Given the description of an element on the screen output the (x, y) to click on. 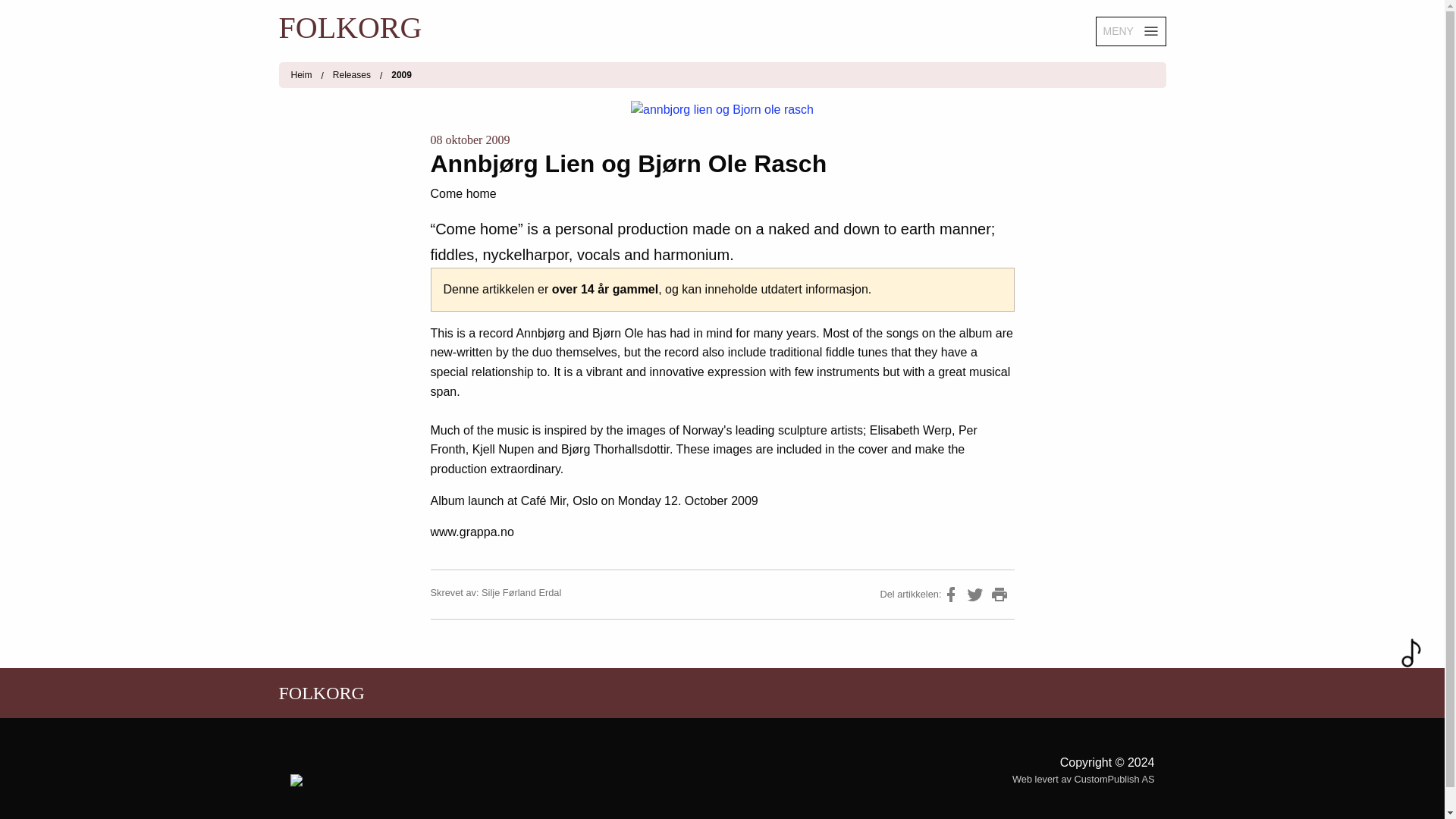
MENY (1130, 30)
Skriv ut (999, 594)
FOLKORG (500, 27)
